Given the description of an element on the screen output the (x, y) to click on. 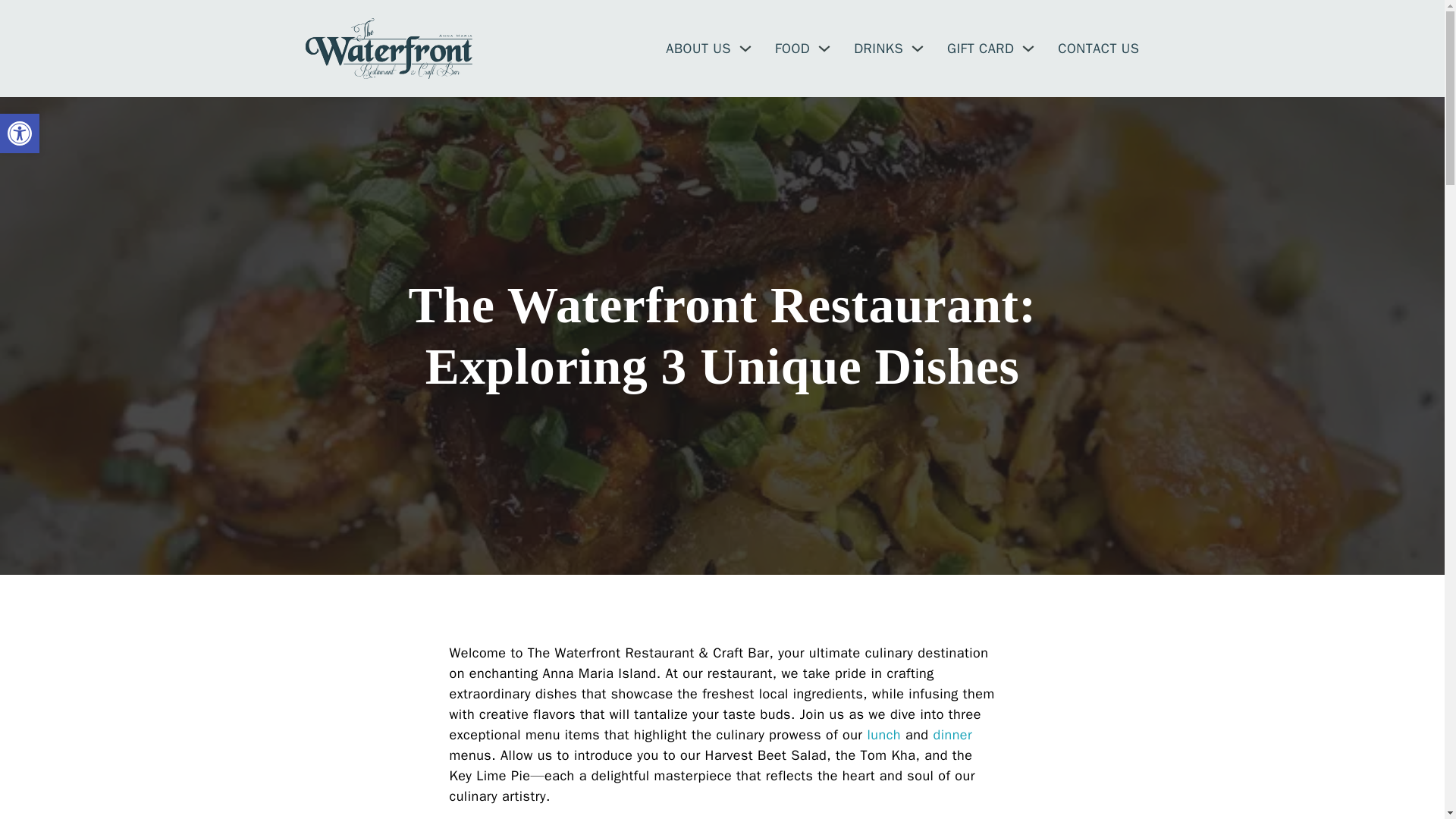
GIFT CARD (980, 47)
ABOUT US (697, 47)
Accessibility Tools (19, 133)
FOOD (791, 47)
CONTACT US (1098, 47)
Lunch Menu (883, 734)
Accessibility Tools (19, 133)
DRINKS (877, 47)
